Given the description of an element on the screen output the (x, y) to click on. 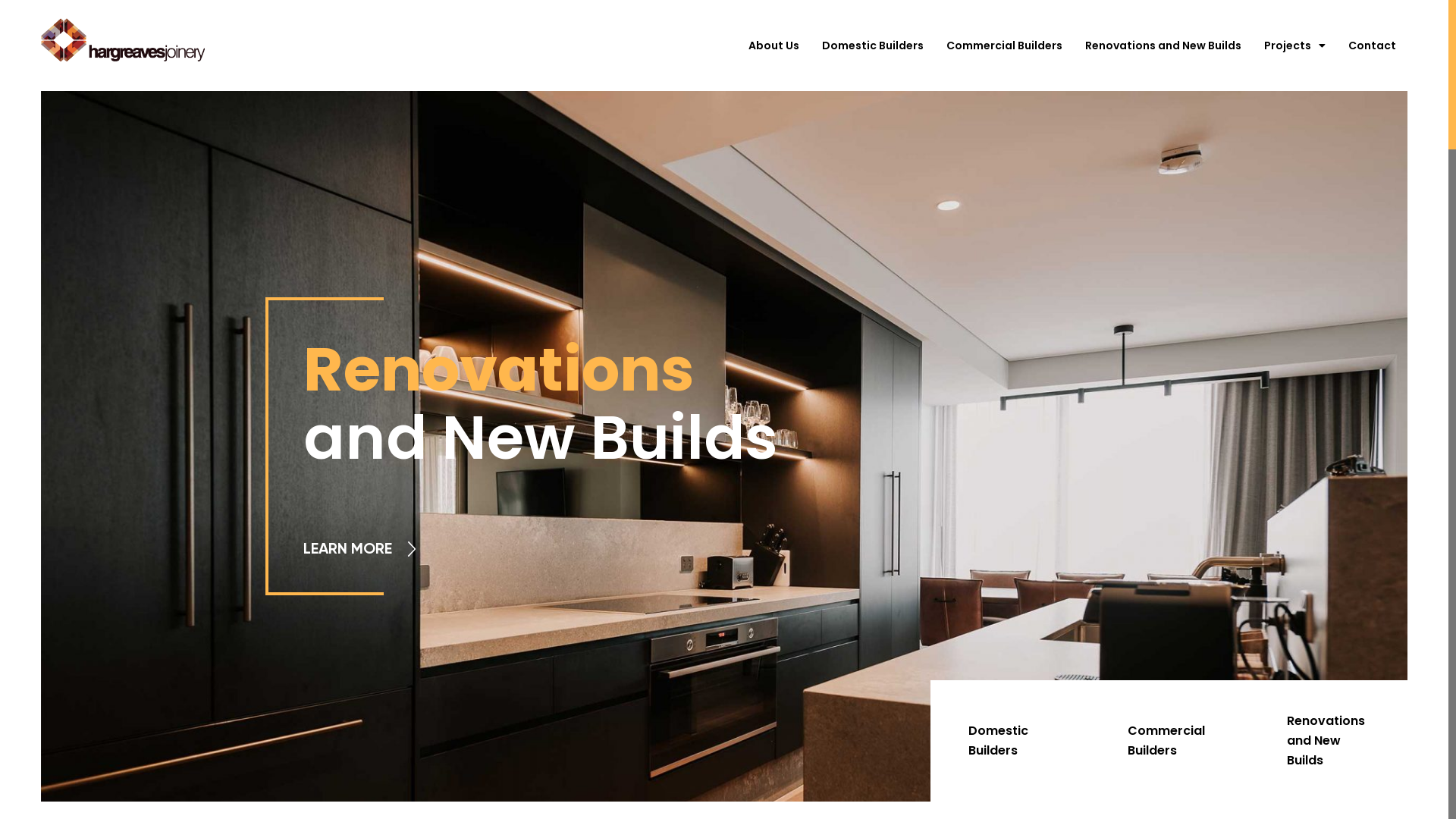
Commercial Builders Element type: text (1165, 740)
About Element type: text (723, 570)
About Us Element type: text (773, 45)
Commercial Builders Element type: text (1004, 45)
Domestic Builders Element type: text (872, 45)
Projects Element type: text (1294, 45)
Contact Element type: text (723, 640)
Renovations and New Builds Element type: text (1325, 740)
Projects Element type: text (723, 605)
Renovations and New Builds Element type: text (1162, 45)
Careers Element type: text (723, 675)
Domestic Builders Element type: text (998, 740)
Contact Element type: text (1371, 45)
LEARN MORE Element type: text (361, 548)
Home Element type: text (723, 535)
Linchpin Digital Element type: text (739, 766)
